Given the description of an element on the screen output the (x, y) to click on. 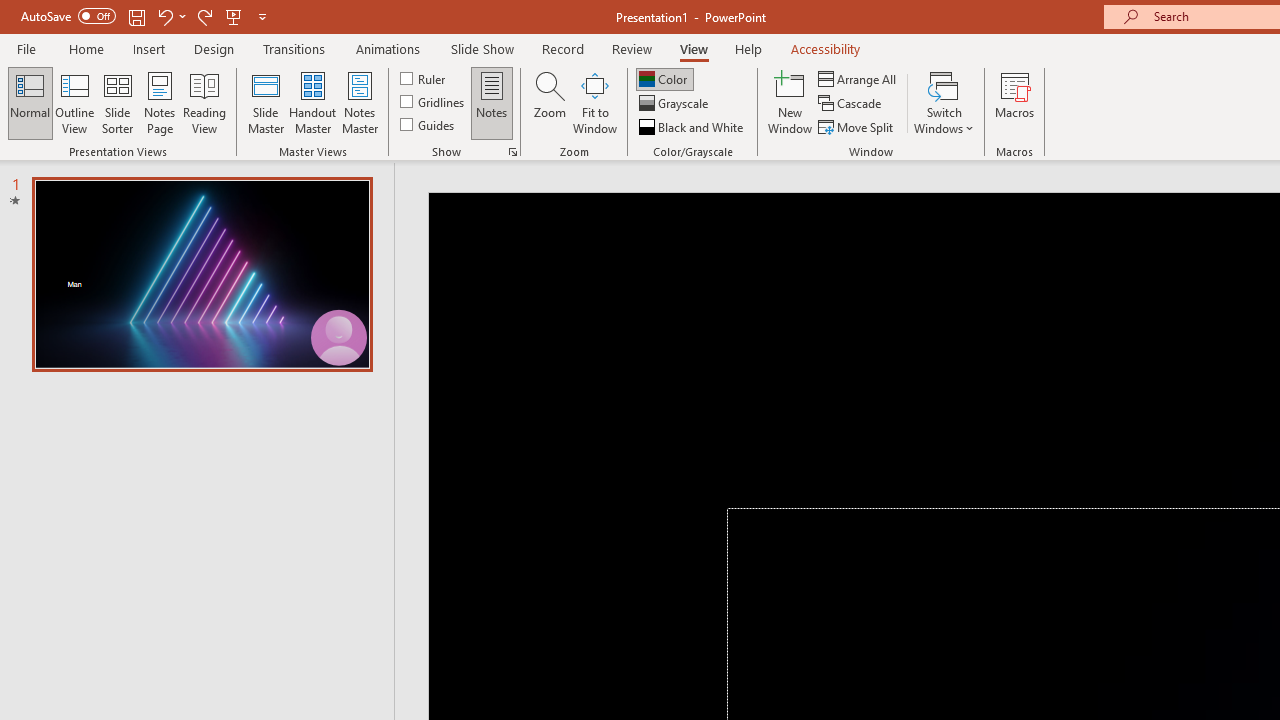
Outline View (74, 102)
Handout Master (312, 102)
Slide Master (265, 102)
Move Split (857, 126)
Fit to Window (594, 102)
Macros (1014, 102)
Arrange All (858, 78)
Color (664, 78)
Black and White (693, 126)
